Given the description of an element on the screen output the (x, y) to click on. 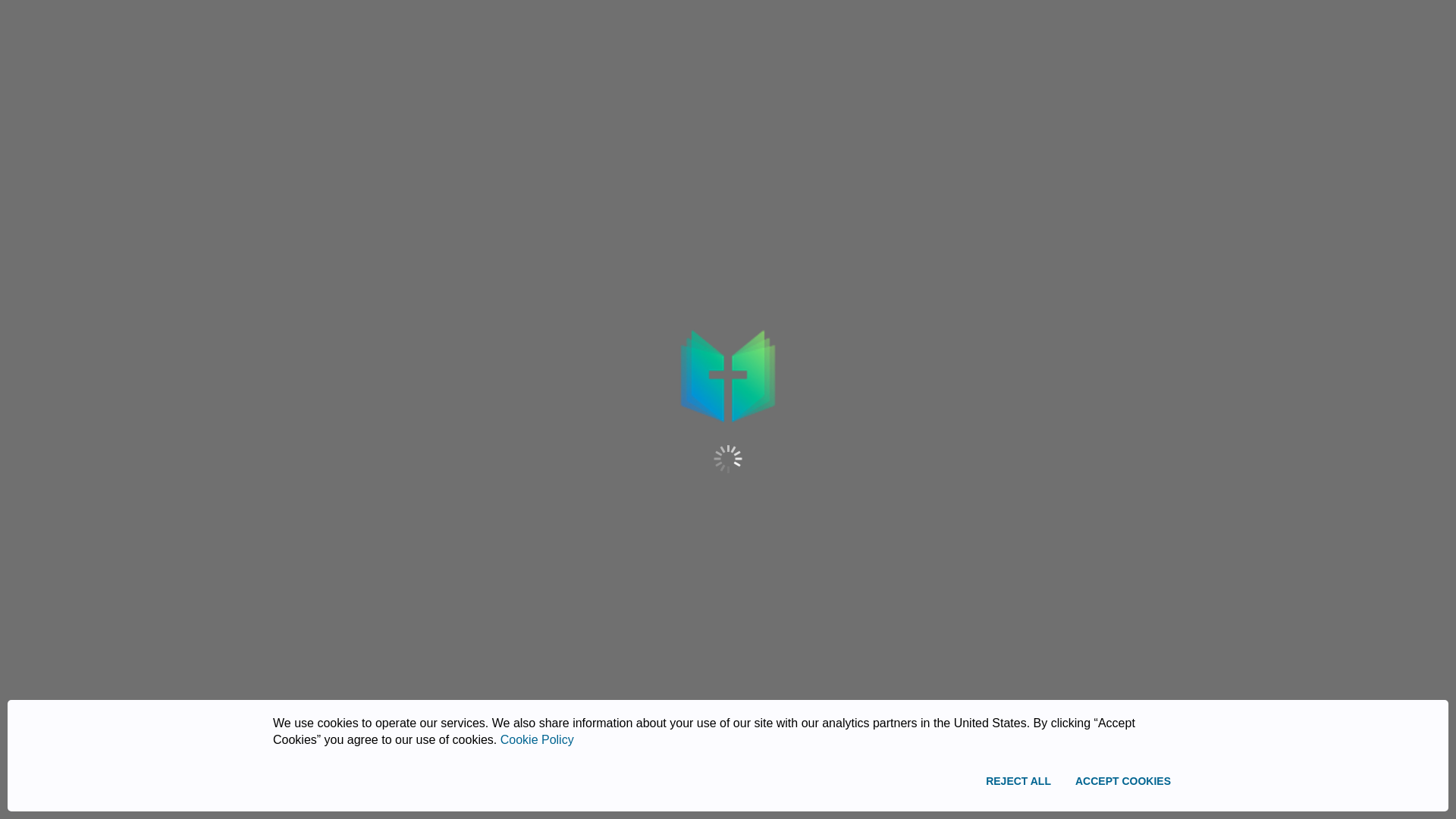
ACCEPT COOKIES (1122, 781)
REJECT ALL (1018, 781)
Cookie Policy (536, 739)
